Given the description of an element on the screen output the (x, y) to click on. 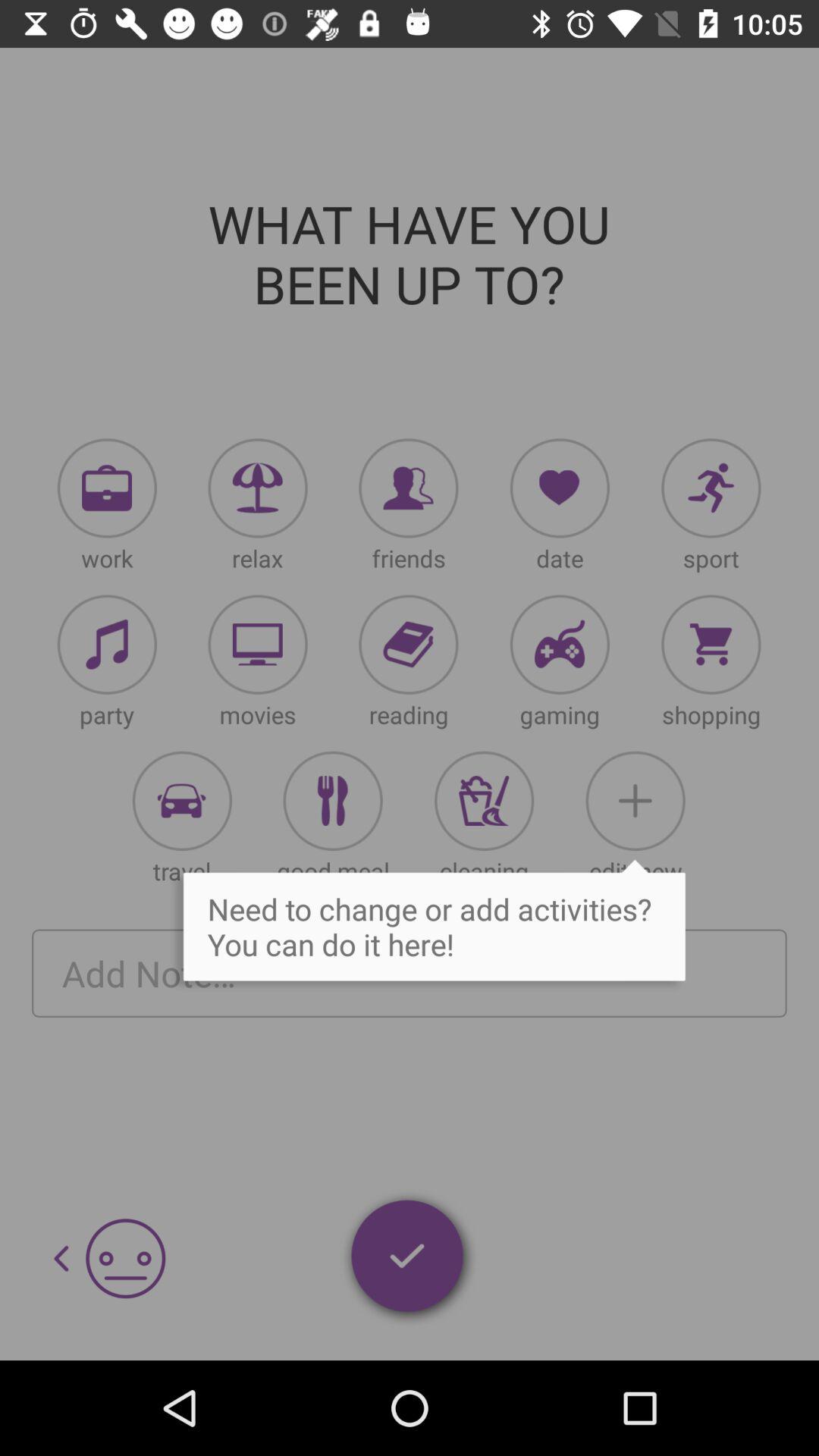
date icon (559, 488)
